Given the description of an element on the screen output the (x, y) to click on. 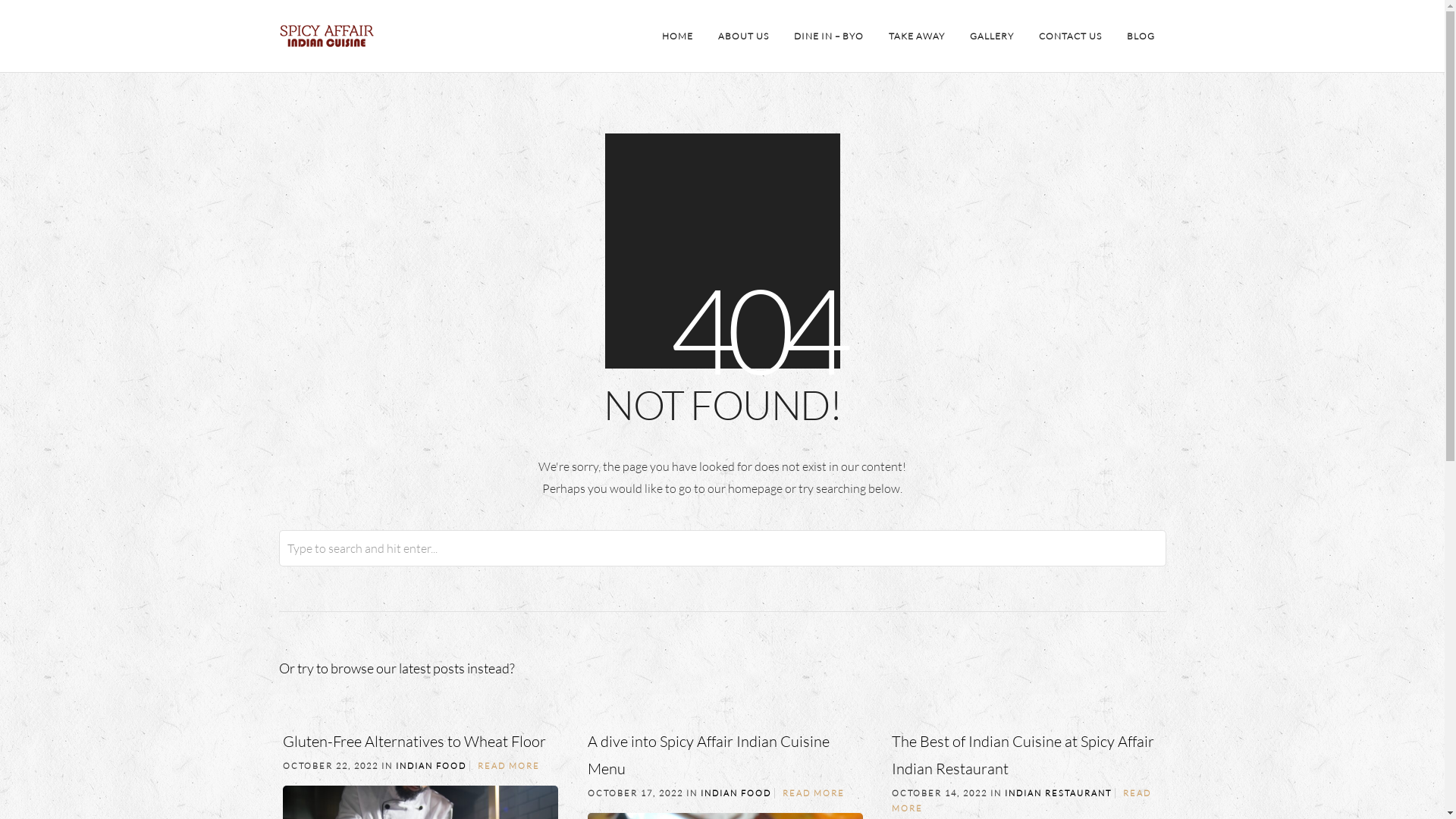
TAKE AWAY Element type: text (915, 36)
BLOG Element type: text (1139, 36)
READ MORE Element type: text (813, 792)
READ MORE Element type: text (1021, 800)
The Best of Indian Cuisine at Spicy Affair Indian Restaurant Element type: text (1022, 754)
ABOUT US Element type: text (743, 36)
HOME Element type: text (677, 36)
CONTACT US Element type: text (1069, 36)
READ MORE Element type: text (508, 765)
INDIAN FOOD Element type: text (430, 765)
A dive into Spicy Affair Indian Cuisine Menu Element type: text (707, 754)
Gluten-Free Alternatives to Wheat Floor Element type: text (413, 740)
INDIAN RESTAURANT Element type: text (1057, 792)
INDIAN FOOD Element type: text (735, 792)
GALLERY Element type: text (991, 36)
